Given the description of an element on the screen output the (x, y) to click on. 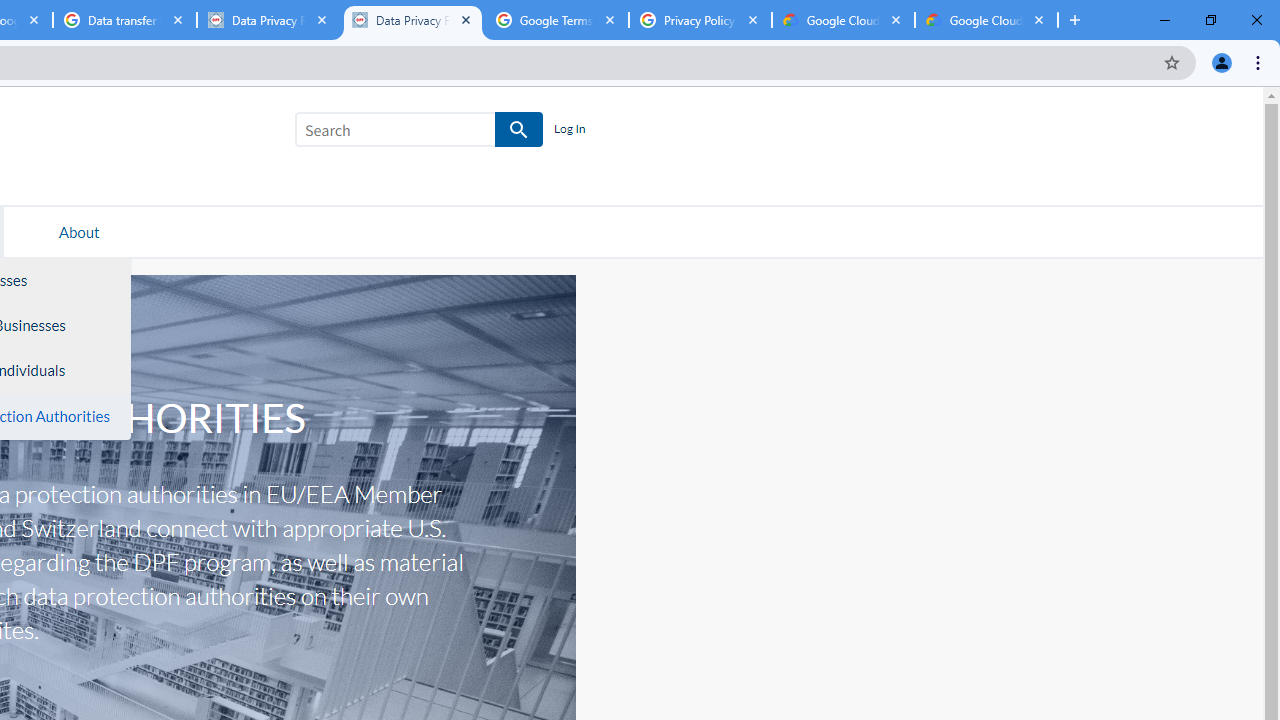
Data Privacy Framework (268, 20)
Log In (569, 129)
SEARCH (519, 130)
About (79, 231)
Data Privacy Framework (412, 20)
Google Cloud Privacy Notice (843, 20)
